Given the description of an element on the screen output the (x, y) to click on. 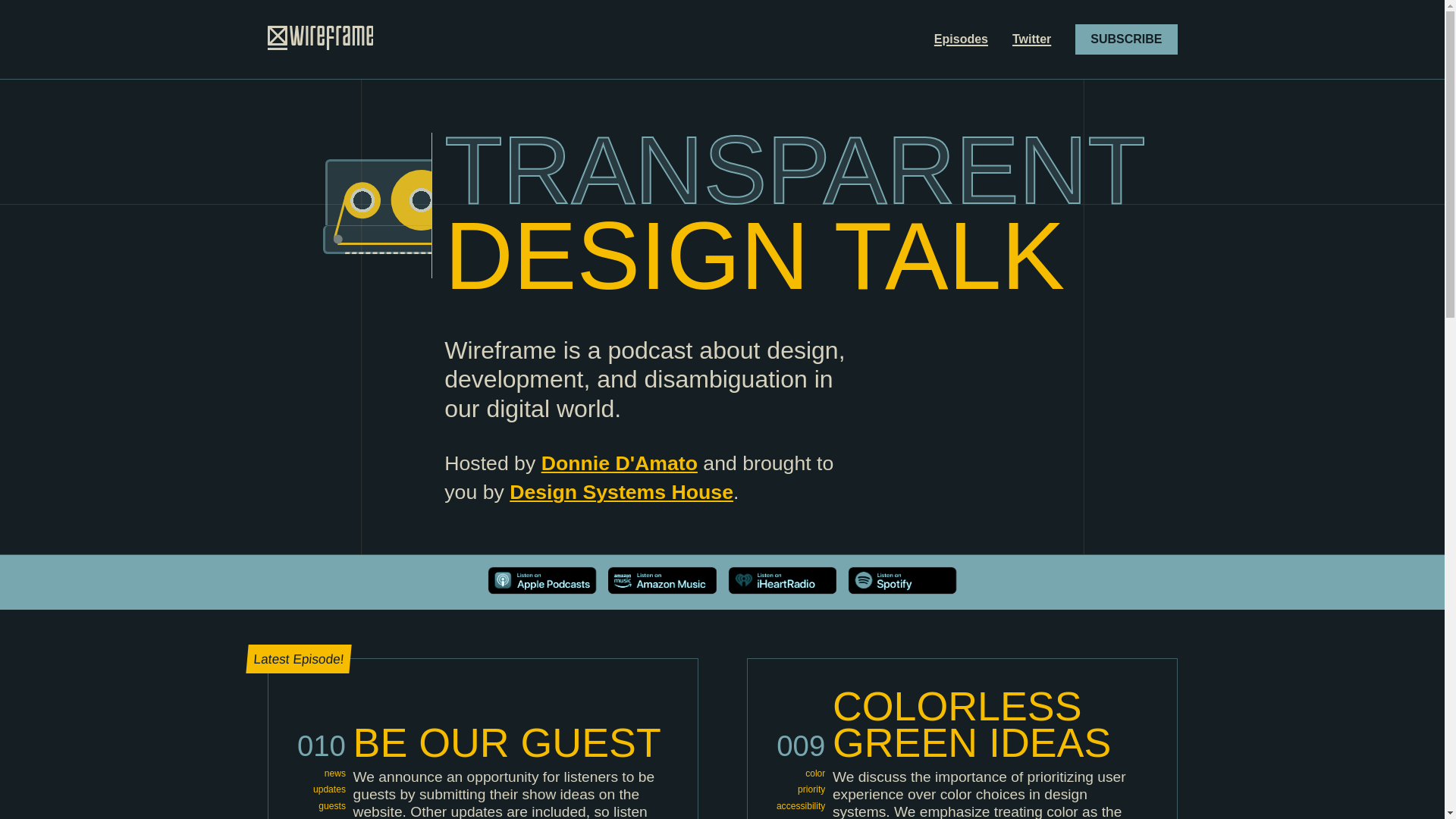
Twitter (1031, 38)
Listen on Amazon Music (662, 589)
Design Systems House (621, 491)
Listen on Spotify (902, 589)
SUBSCRIBE (1125, 39)
Listen on Apple Music (541, 589)
Episodes (961, 38)
Donnie D'Amato (619, 463)
